Given the description of an element on the screen output the (x, y) to click on. 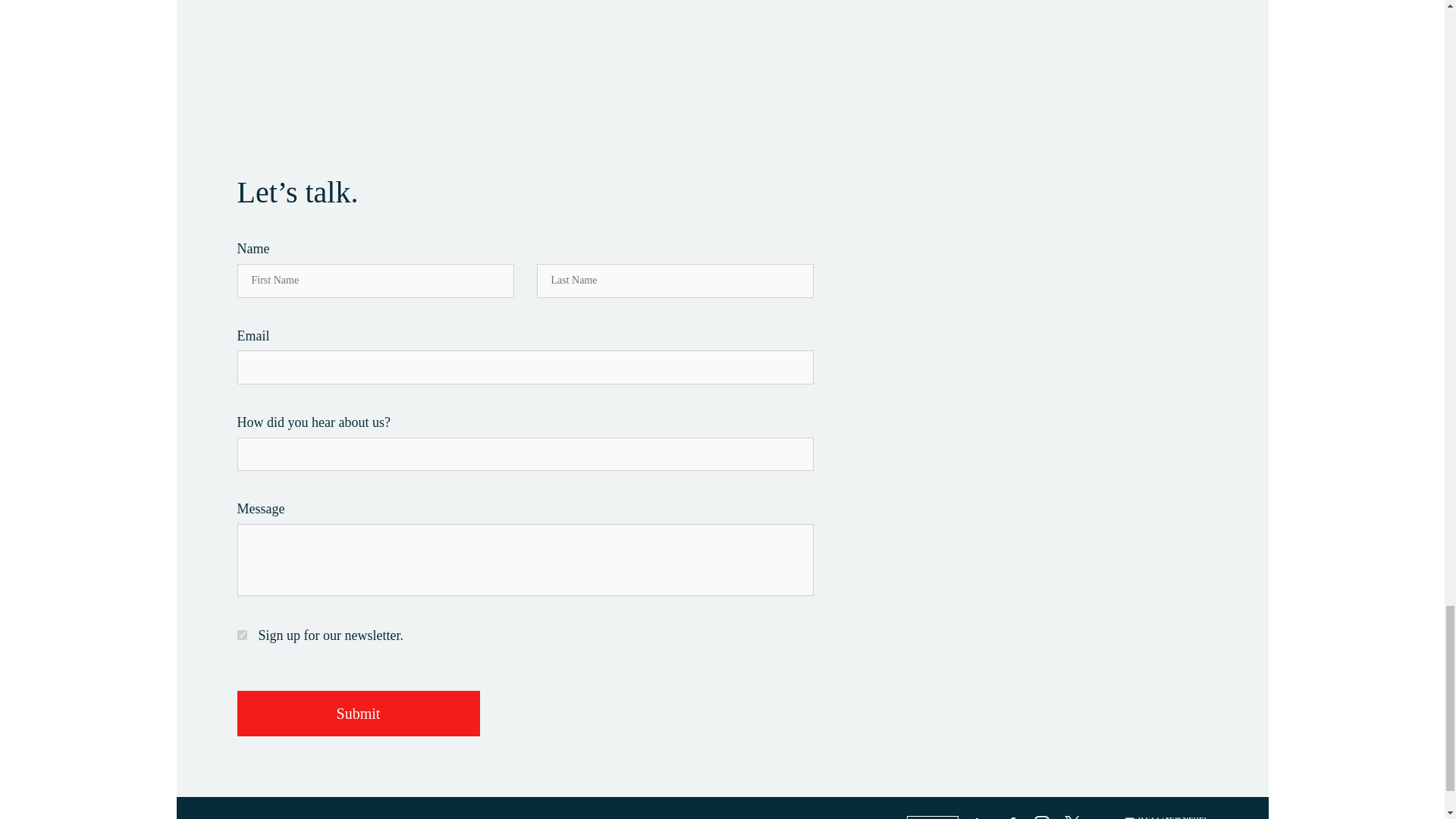
Submit (357, 713)
1 (240, 634)
Submit (357, 713)
